Given the description of an element on the screen output the (x, y) to click on. 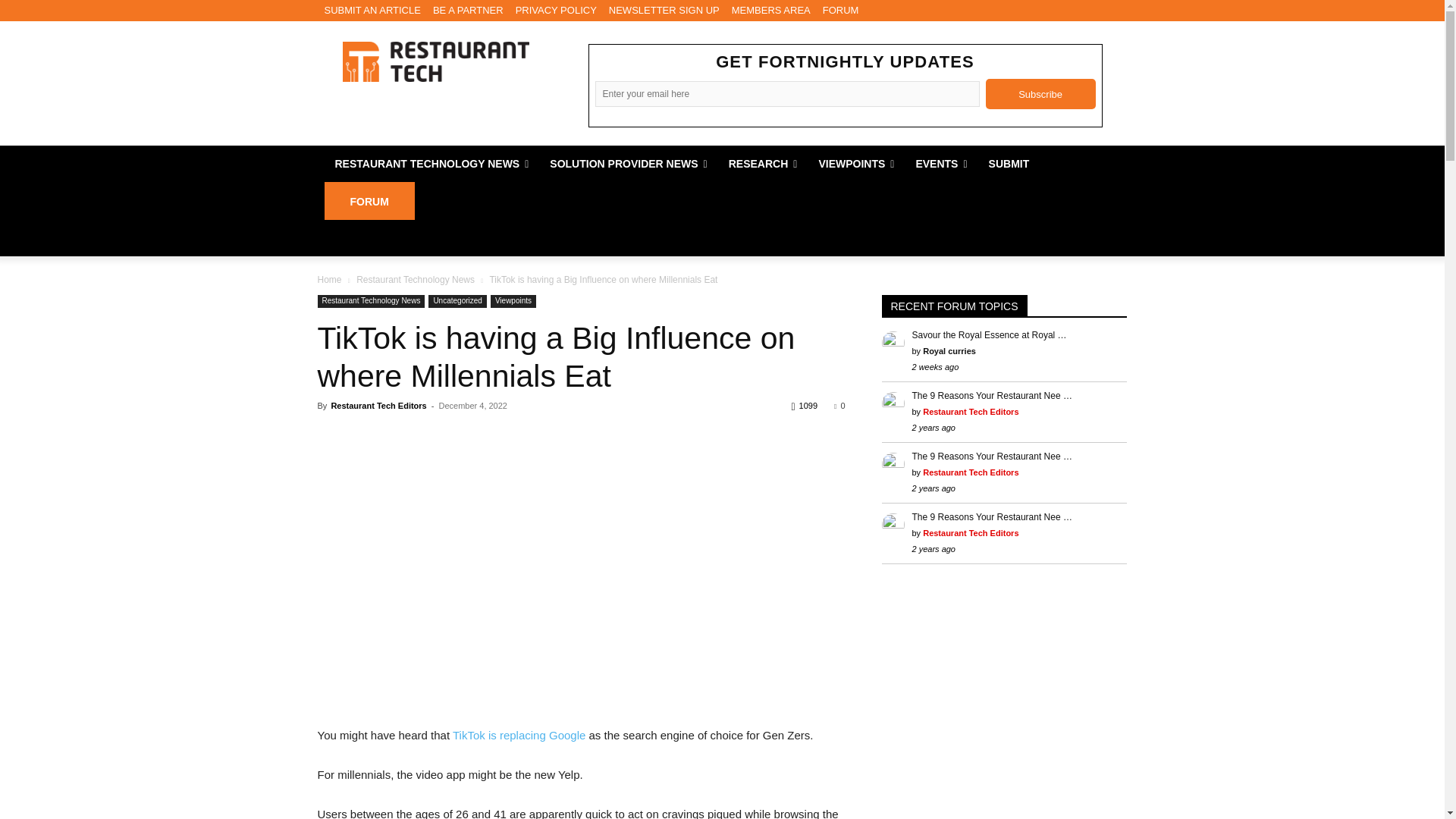
BE A PARTNER (467, 10)
SUBMIT AN ARTICLE (372, 10)
Restaurant Technology News (435, 61)
Subscribe (1040, 93)
MEMBERS AREA (771, 10)
FORUM (840, 10)
RESTAURANT TECHNOLOGY NEWS (432, 163)
PRIVACY POLICY (555, 10)
SOLUTION PROVIDER NEWS (627, 163)
Subscribe (1040, 93)
